Given the description of an element on the screen output the (x, y) to click on. 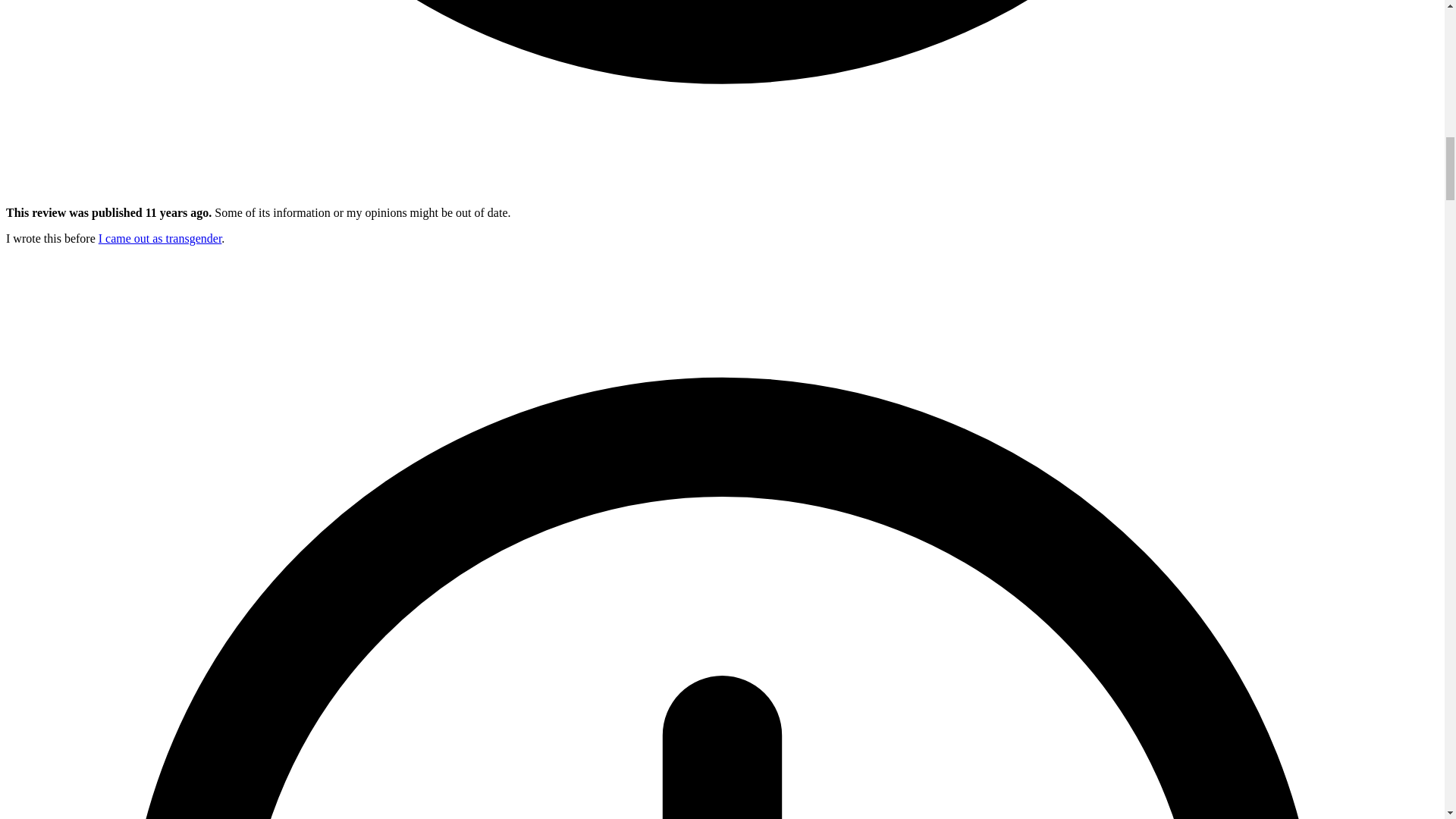
I came out as transgender (160, 237)
